Given the description of an element on the screen output the (x, y) to click on. 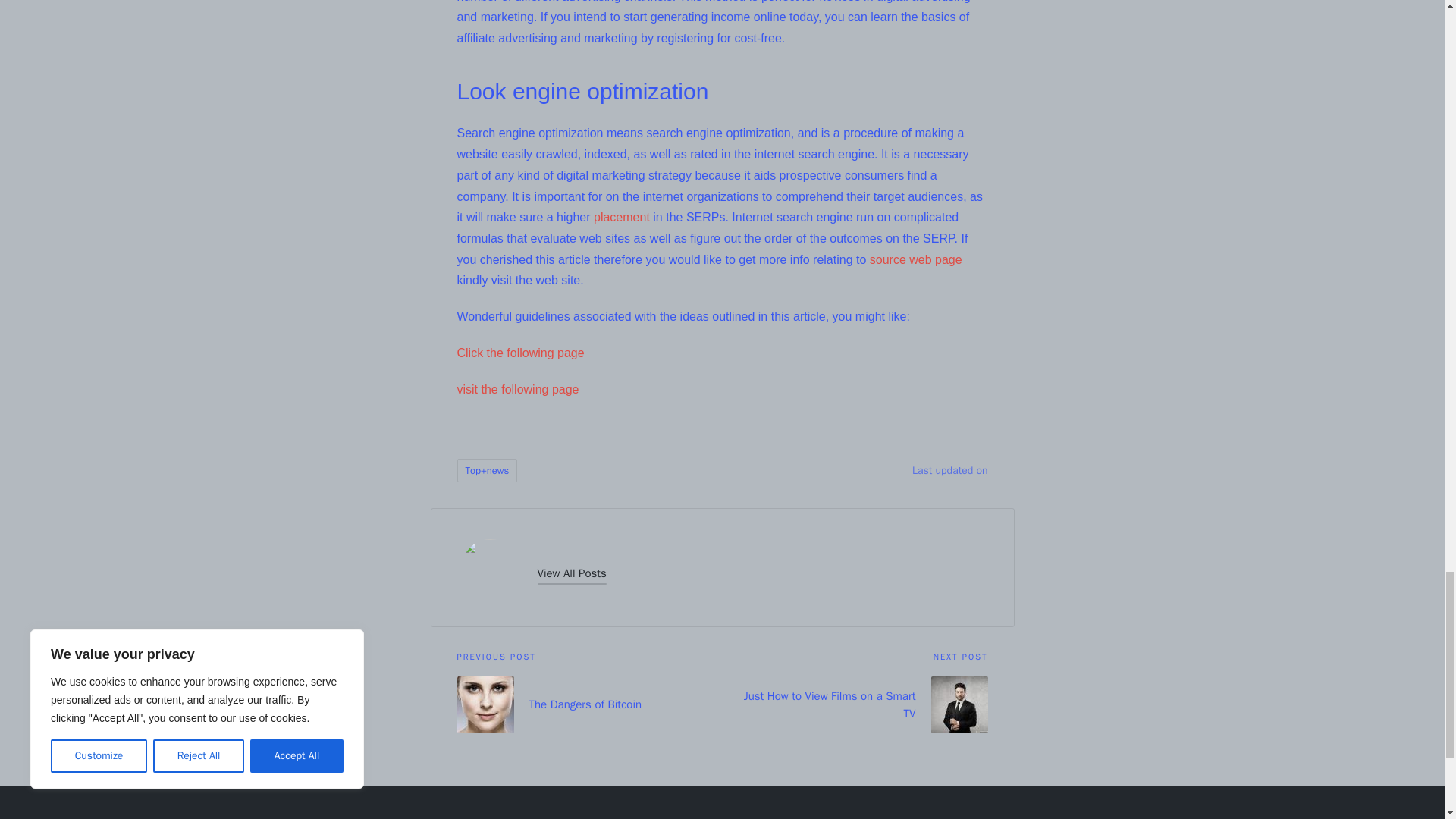
The Dangers of Bitcoin (589, 704)
visit the following page (517, 389)
View All Posts (571, 573)
Just How to View Films on a Smart TV (854, 704)
source web page (915, 259)
Click the following page (520, 352)
placement (621, 216)
